Given the description of an element on the screen output the (x, y) to click on. 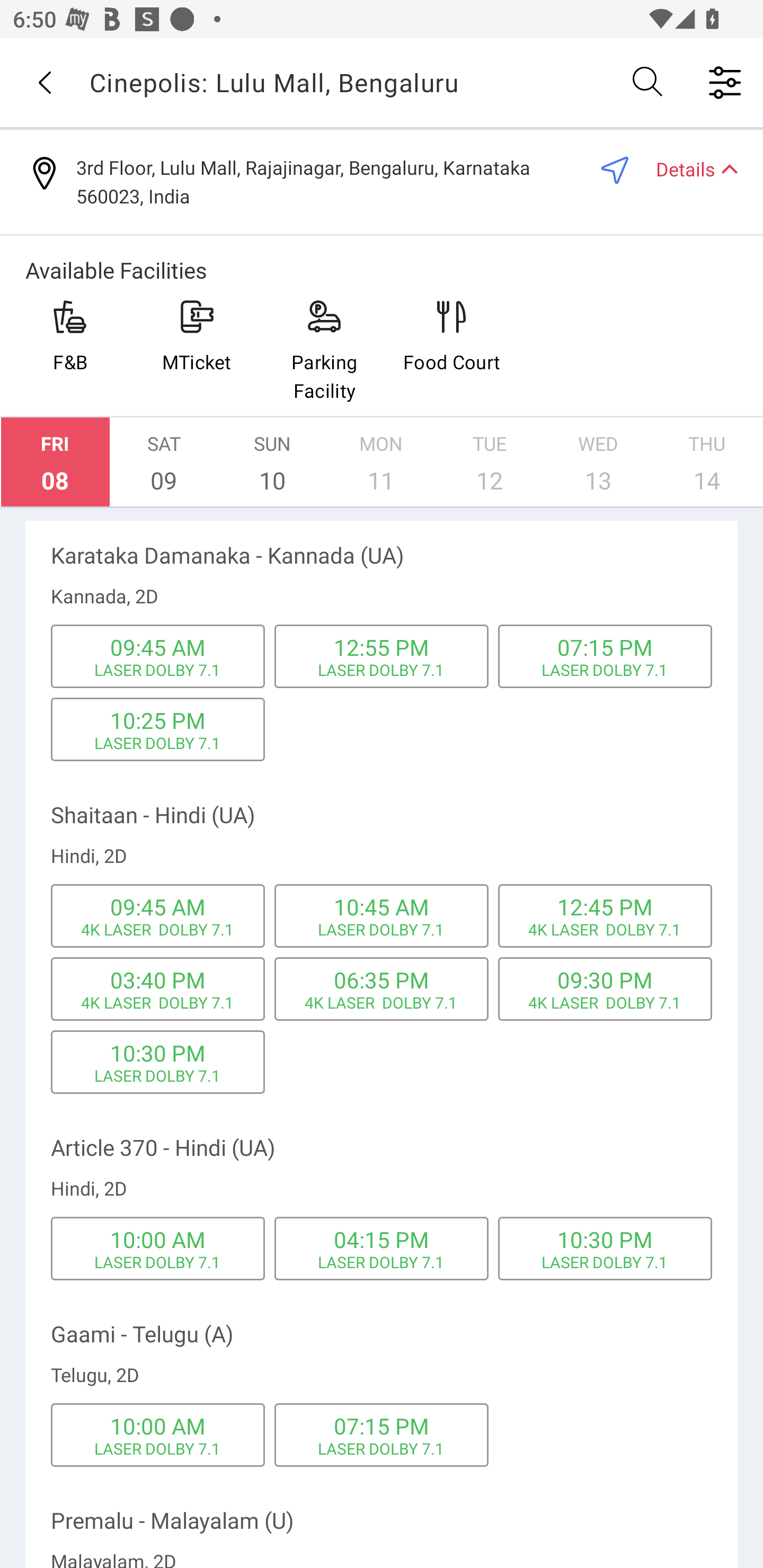
Navigate up (44, 82)
Search (648, 81)
Filter (724, 81)
Details (688, 168)
SAT 09 MAR (163, 461)
SUN 10 MAR (272, 461)
MON 11 MAR (380, 461)
TUE 12 MAR (489, 461)
WED 13 MAR (598, 461)
THU 14 MAR (707, 461)
09:45 AM (157, 646)
12:55 PM (381, 646)
07:15 PM (605, 646)
LASER DOLBY 7.1 (157, 669)
LASER DOLBY 7.1 (381, 669)
LASER DOLBY 7.1 (604, 669)
10:25 PM (157, 720)
LASER DOLBY 7.1 (157, 743)
09:45 AM (157, 906)
10:45 AM (381, 906)
12:45 PM (605, 906)
4K LASER  DOLBY 7.1 (157, 929)
LASER DOLBY 7.1 (381, 929)
4K LASER  DOLBY 7.1 (604, 929)
03:40 PM (157, 979)
06:35 PM (381, 979)
09:30 PM (605, 979)
4K LASER  DOLBY 7.1 (157, 1001)
4K LASER  DOLBY 7.1 (380, 1001)
4K LASER  DOLBY 7.1 (604, 1001)
10:30 PM (157, 1052)
LASER DOLBY 7.1 (157, 1075)
10:00 AM (157, 1239)
04:15 PM (381, 1239)
10:30 PM (605, 1239)
LASER DOLBY 7.1 (157, 1262)
LASER DOLBY 7.1 (381, 1262)
LASER DOLBY 7.1 (604, 1262)
10:00 AM (157, 1425)
07:15 PM (381, 1425)
LASER DOLBY 7.1 (157, 1448)
LASER DOLBY 7.1 (381, 1448)
